Given the description of an element on the screen output the (x, y) to click on. 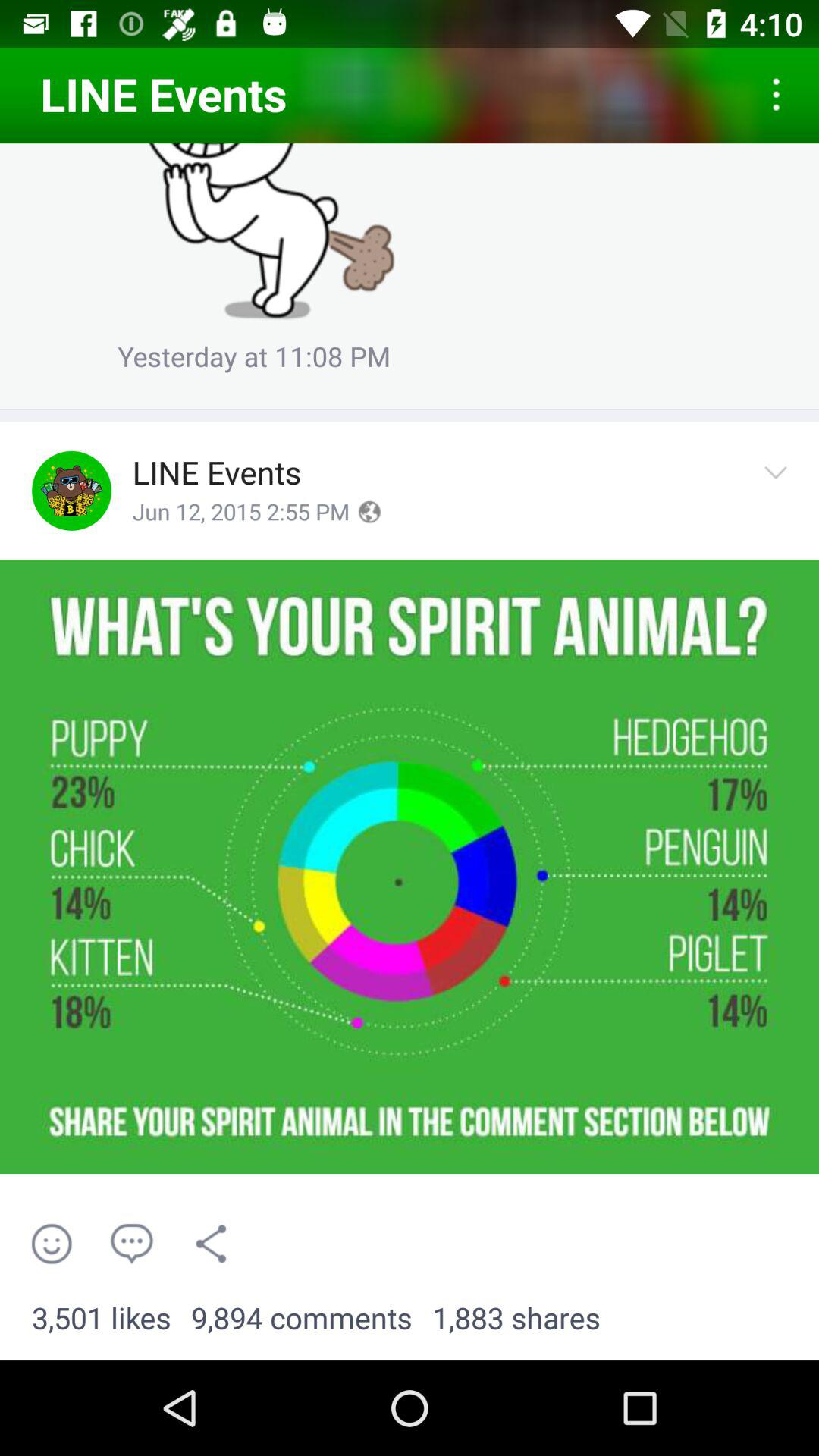
choose the 1,883 shares item (516, 1318)
